Given the description of an element on the screen output the (x, y) to click on. 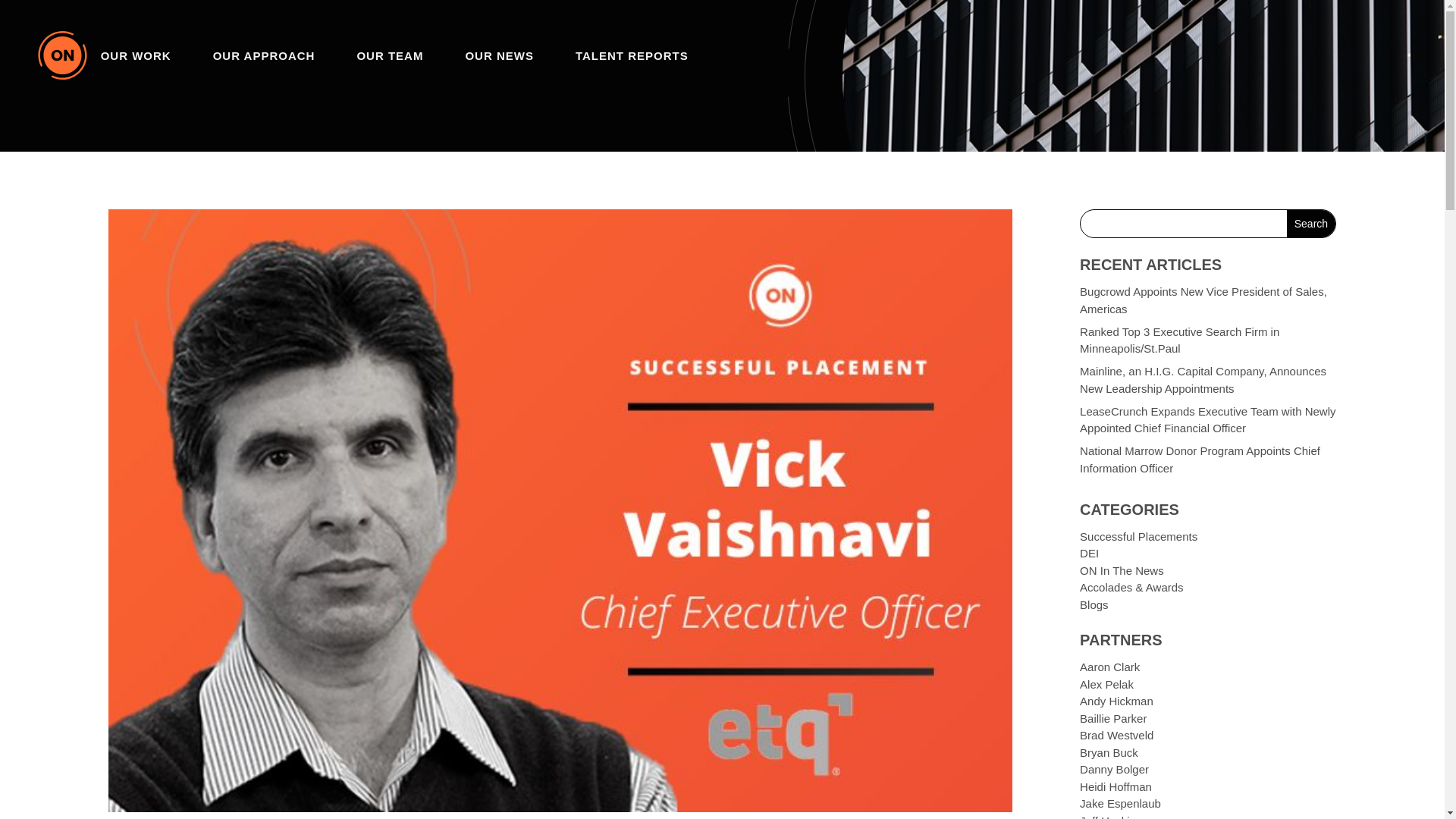
OUR APPROACH (264, 55)
TALENT REPORTS (632, 55)
OUR NEWS (498, 55)
Search (1311, 223)
OUR TEAM (389, 55)
OUR WORK (135, 55)
Search (1311, 223)
